Given the description of an element on the screen output the (x, y) to click on. 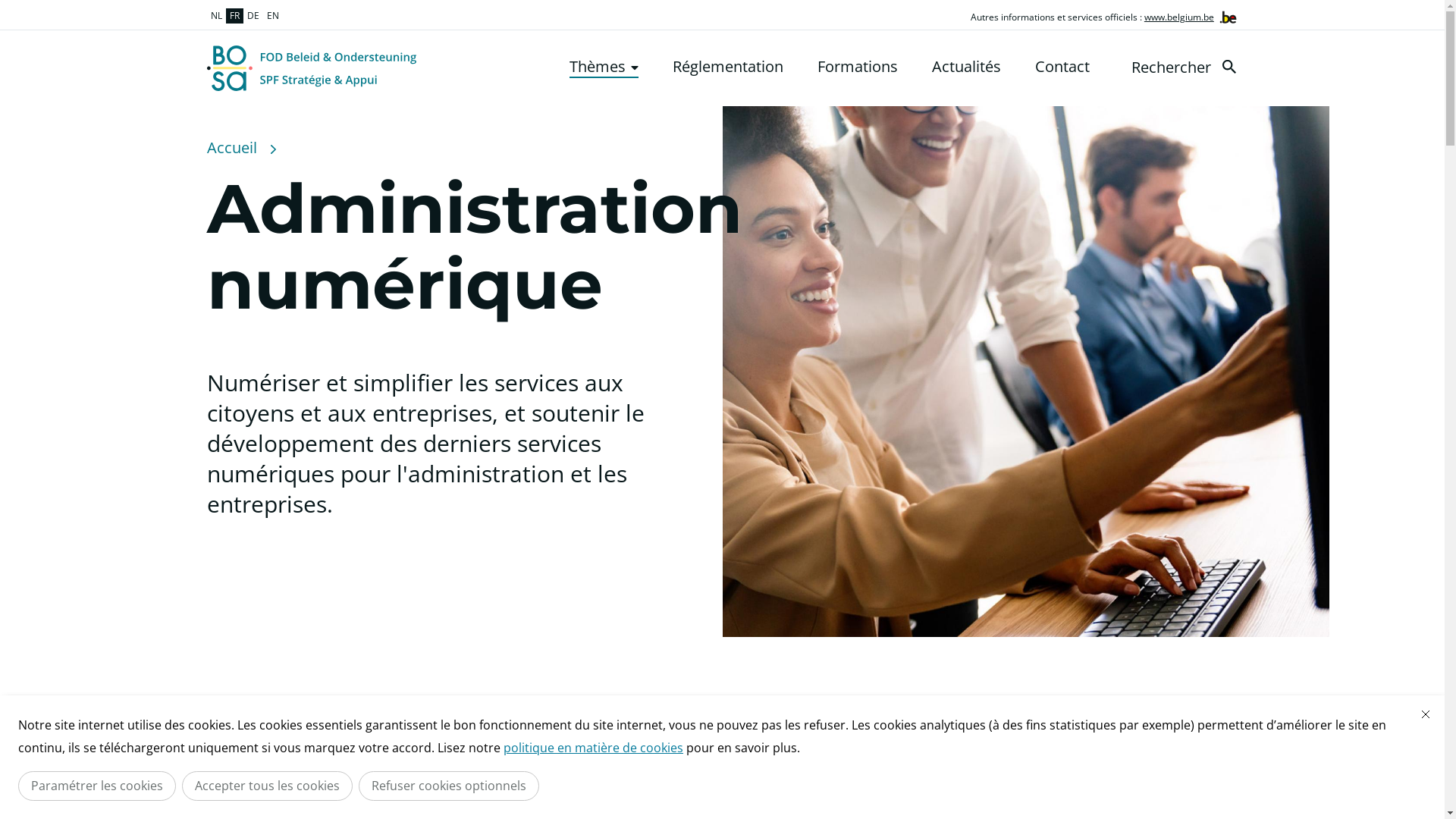
FR Element type: text (234, 15)
Accueil Element type: text (231, 147)
Rechercher Element type: hover (1186, 66)
Refuser cookies optionnels Element type: text (448, 785)
Accepter tous les cookies Element type: text (267, 785)
Back to BOSA home page Element type: hover (311, 68)
Appliquer Element type: text (1228, 66)
DE Element type: text (252, 15)
Formations Element type: text (857, 66)
Fermer Element type: hover (1425, 714)
EN Element type: text (272, 15)
Aller au contenu principal Element type: text (7, 4)
NL Element type: text (215, 15)
www.belgium.be Element type: text (1179, 16)
Contact Element type: text (1061, 66)
